Given the description of an element on the screen output the (x, y) to click on. 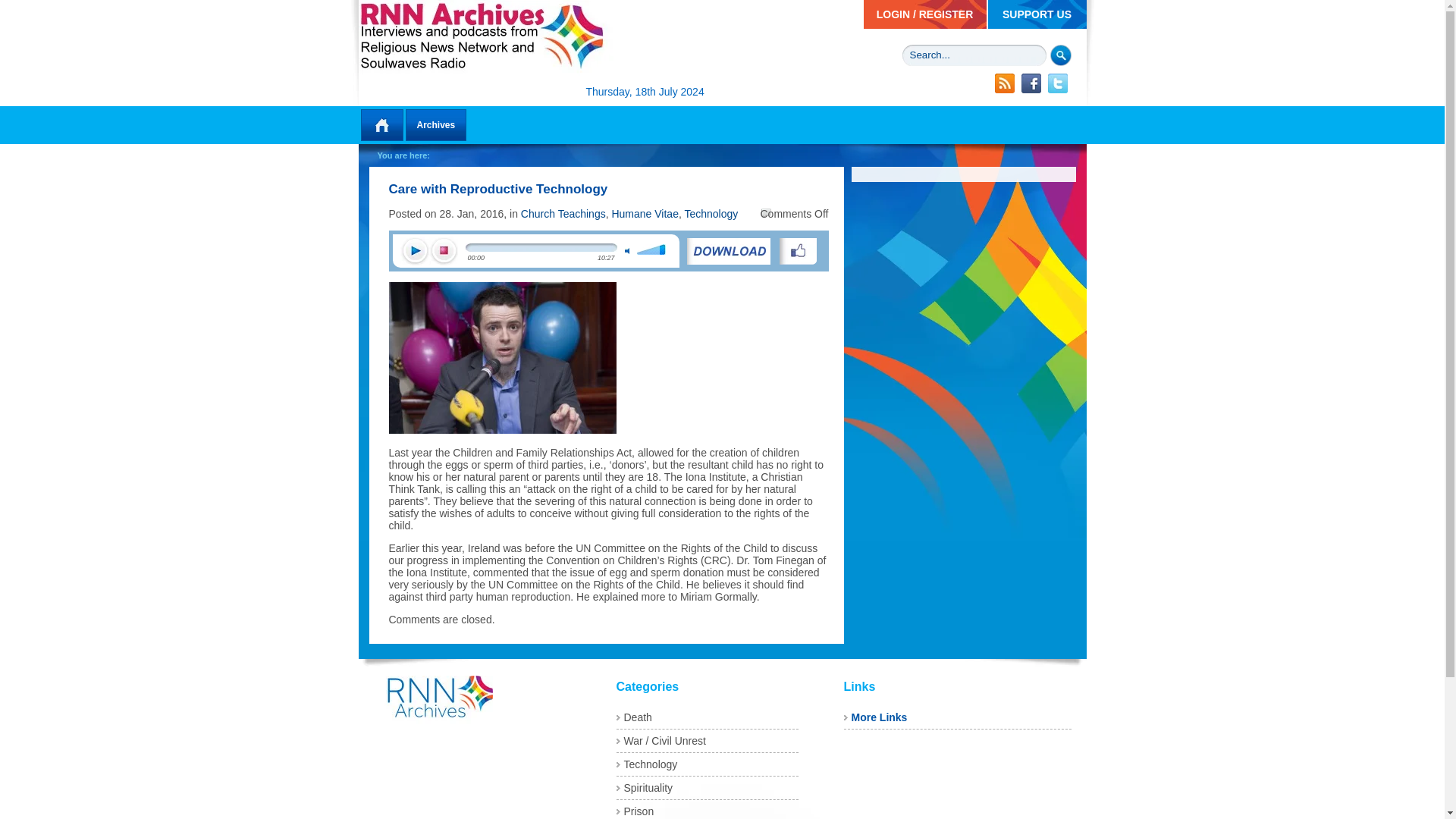
Home (381, 124)
Technology (711, 214)
Technology (650, 764)
Search... (974, 55)
Humane Vitae (644, 214)
Church Teachings (563, 214)
View all posts in Technology (650, 764)
Prison (638, 811)
Death (636, 717)
stop (443, 251)
SUPPORT US (1036, 14)
Archives (435, 124)
View all posts in Spirituality (647, 787)
More Links (878, 717)
View all posts in Death (636, 717)
